Given the description of an element on the screen output the (x, y) to click on. 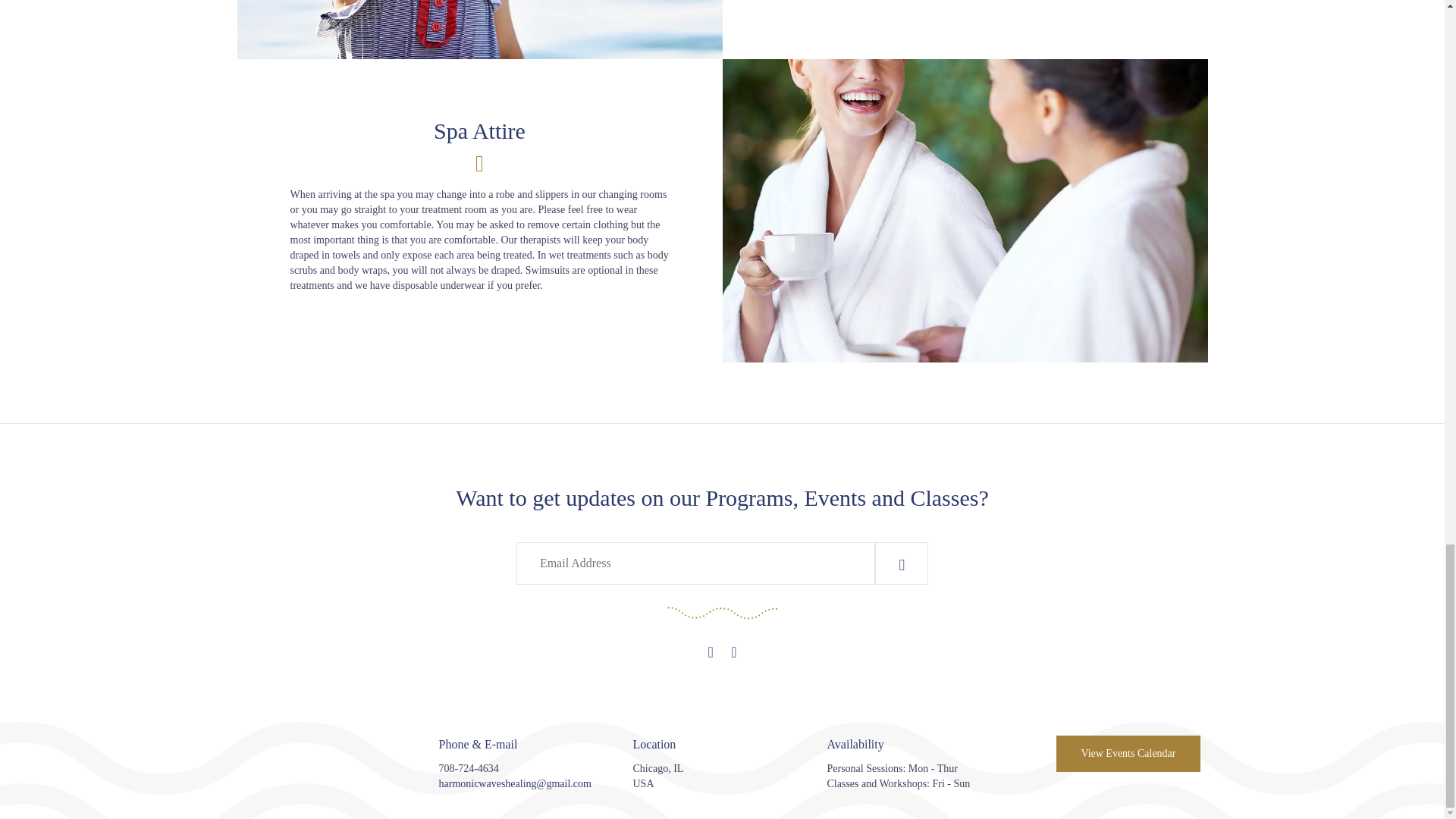
footericon-01 (333, 776)
goldwave2 (720, 612)
View Events Calendar (1128, 753)
